Given the description of an element on the screen output the (x, y) to click on. 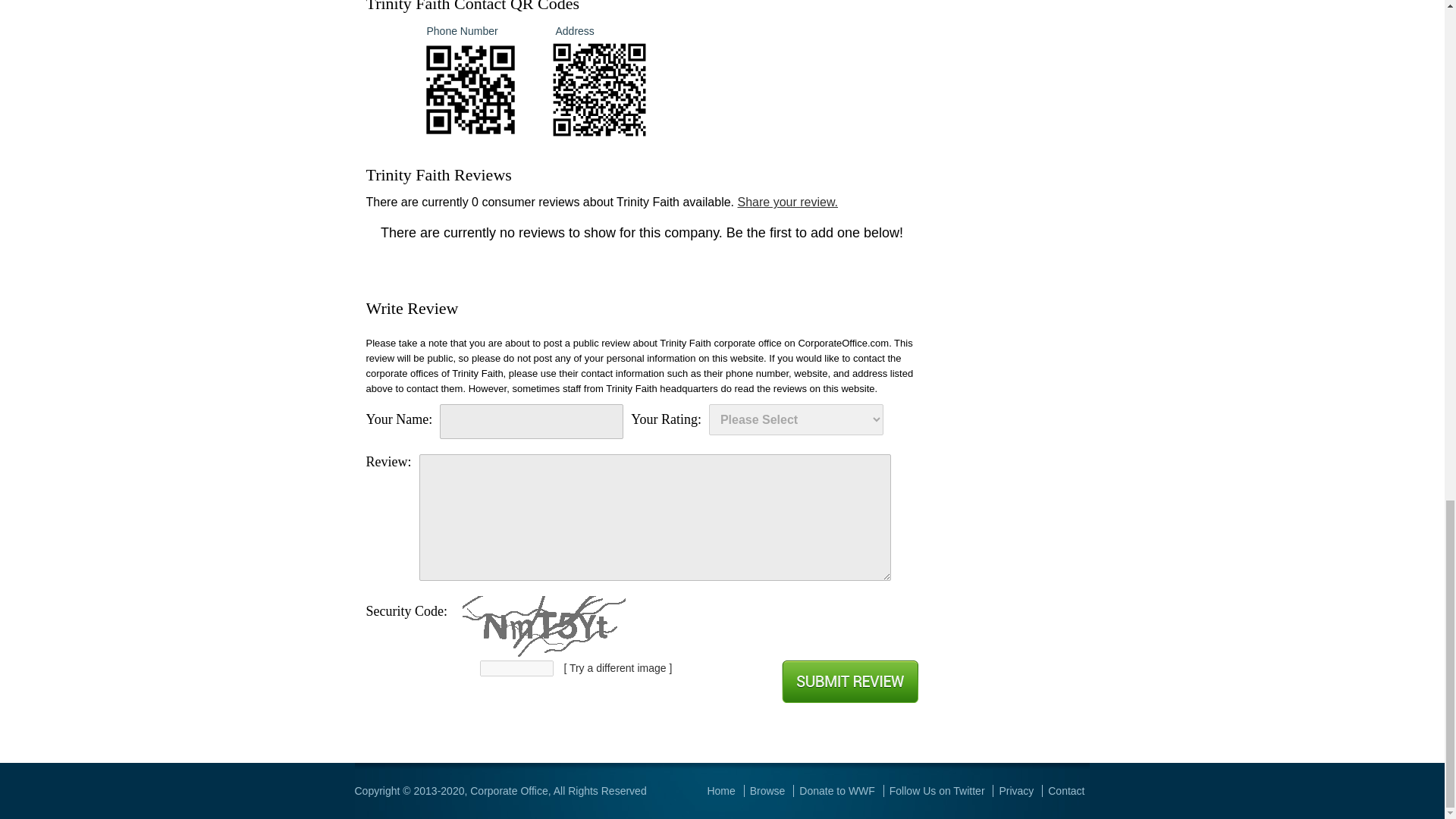
Browse (767, 790)
Follow Us on Twitter (937, 790)
Donate to WWF (837, 790)
Contact (1066, 790)
Home (720, 790)
Privacy (1015, 790)
Share your review. (787, 201)
Corporate Office (508, 790)
